Given the description of an element on the screen output the (x, y) to click on. 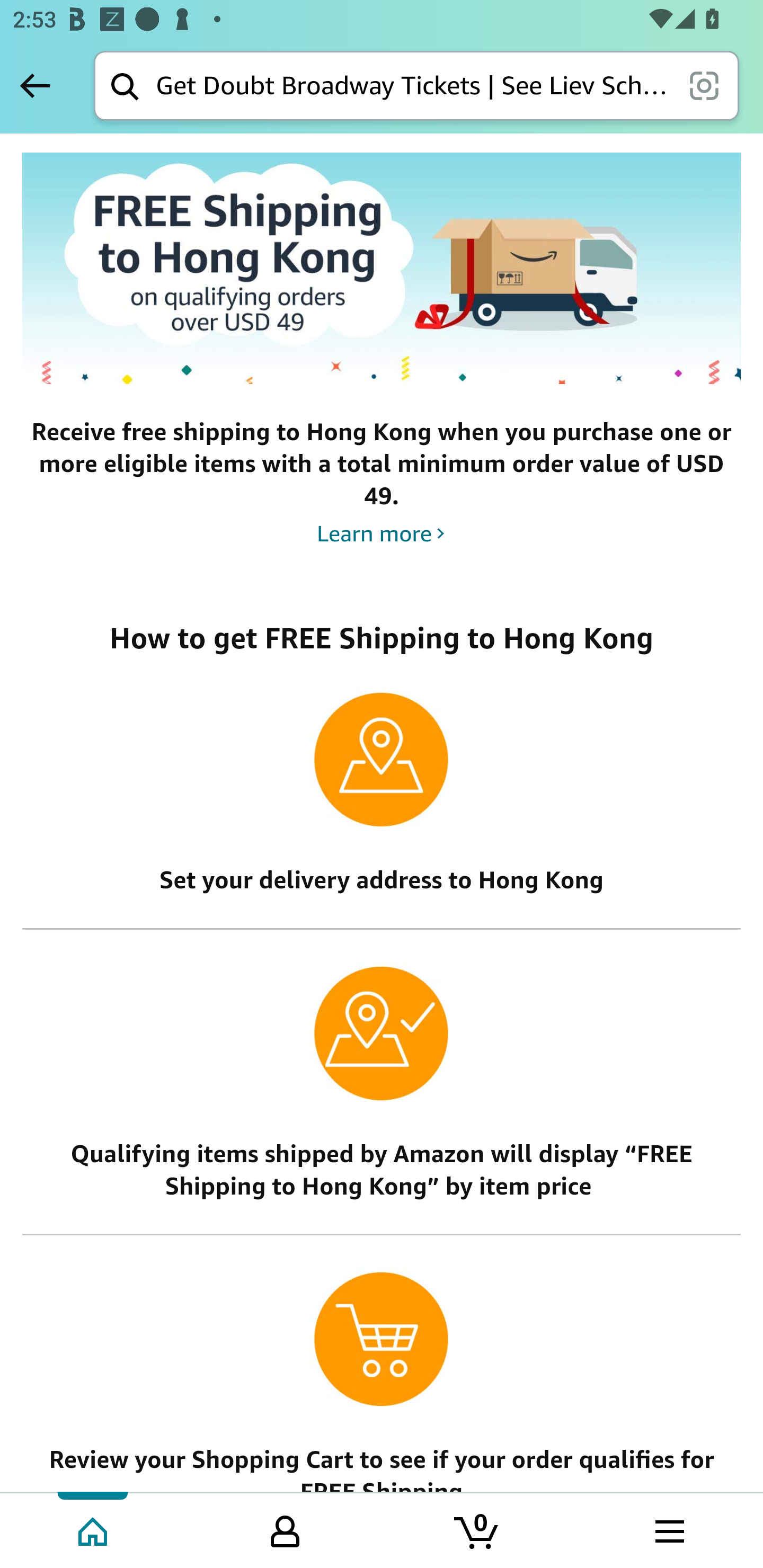
Back (35, 85)
scan it (704, 85)
Learn more about Free Shipping Learn more (381, 533)
Home Tab 1 of 4 (94, 1529)
Your Amazon.com Tab 2 of 4 (285, 1529)
Cart 0 item Tab 3 of 4 0 (477, 1529)
Browse menu Tab 4 of 4 (668, 1529)
